Given the description of an element on the screen output the (x, y) to click on. 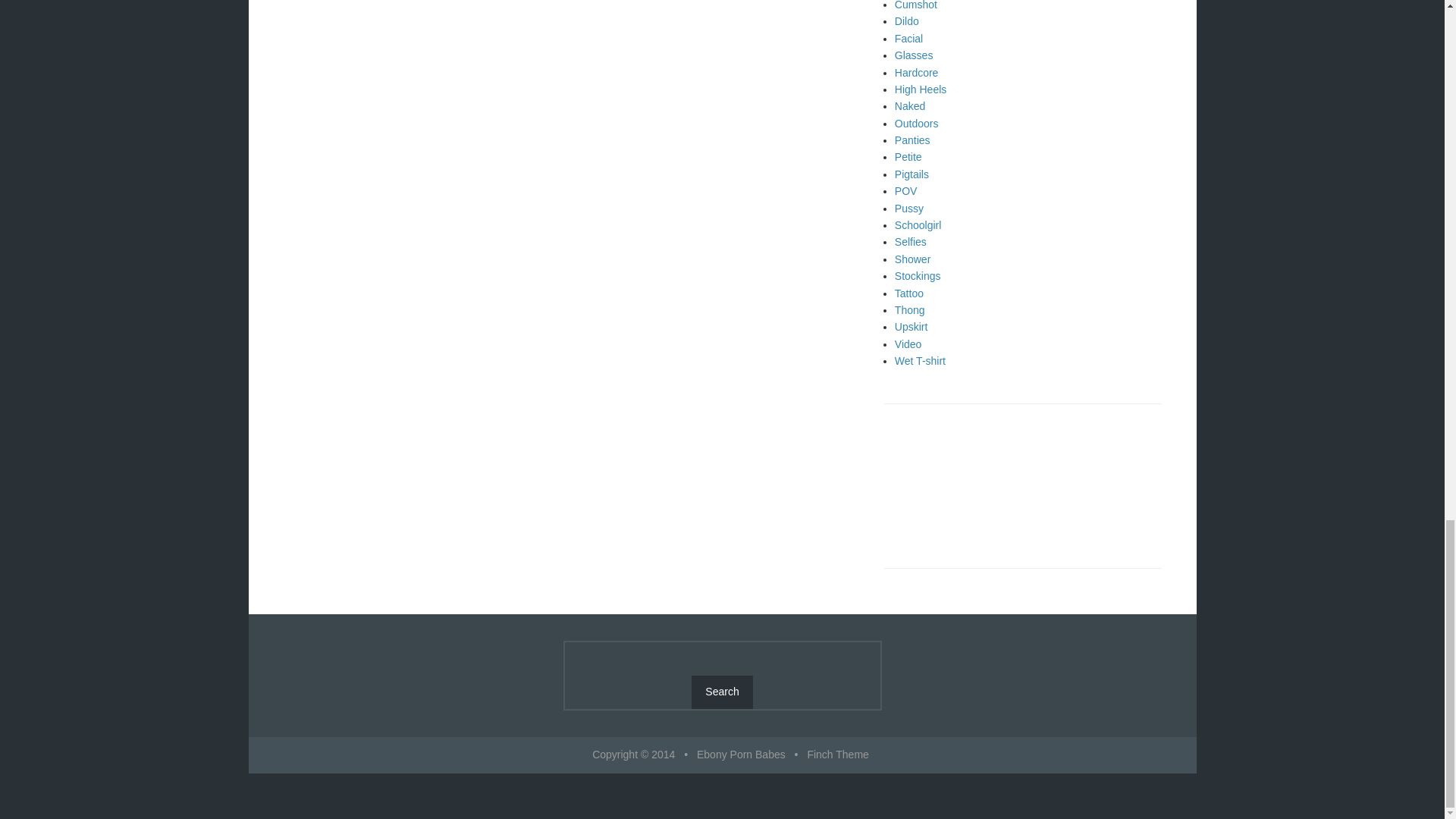
Search (721, 692)
Search (721, 692)
Finch WordPress Theme (836, 754)
Ebony Porn Babes (741, 754)
